Given the description of an element on the screen output the (x, y) to click on. 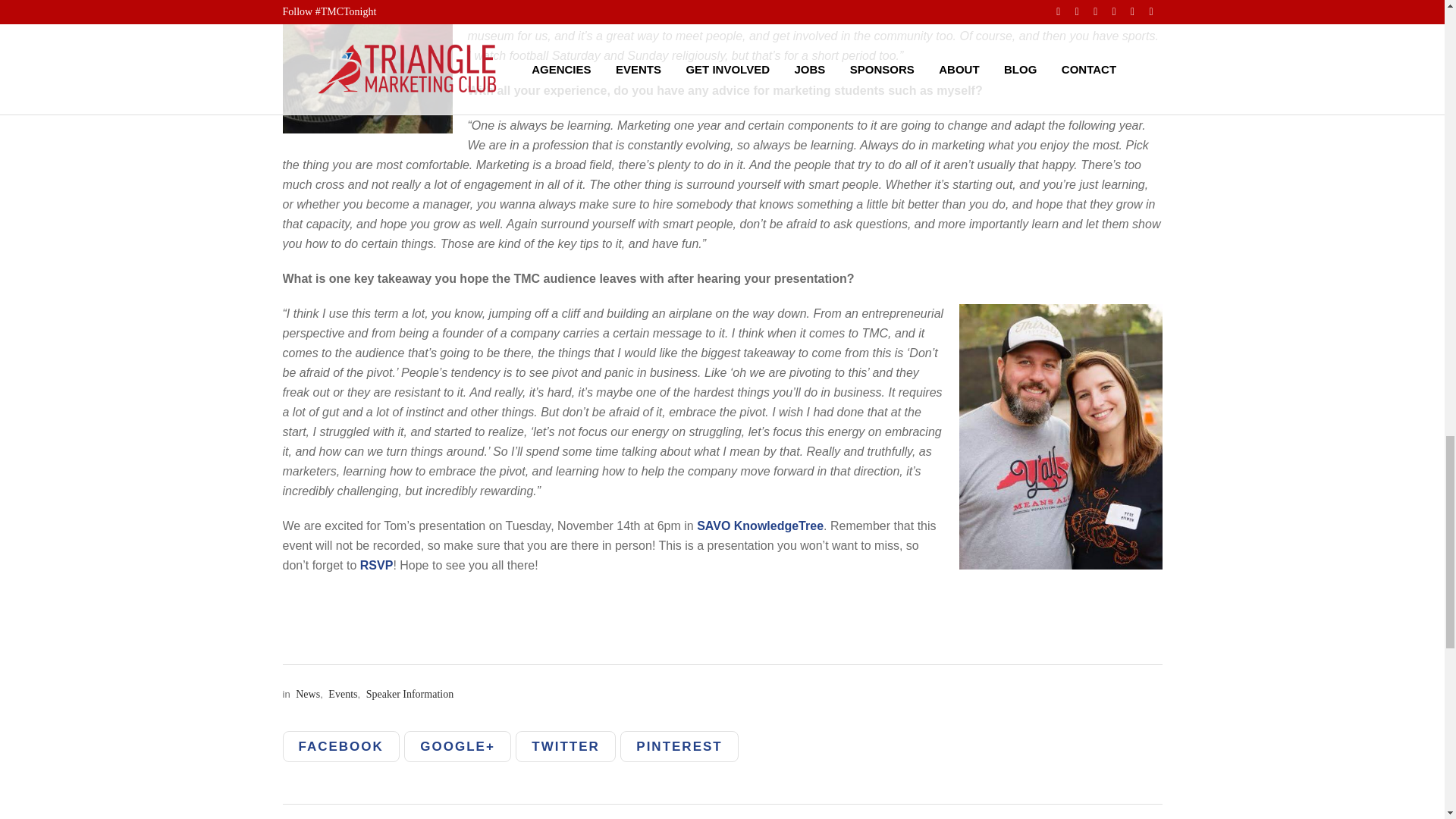
Speaker Information (407, 694)
TWITTER (565, 746)
Events (340, 694)
SAVO KnowledgeTree (760, 525)
PINTEREST (679, 746)
FACEBOOK (340, 746)
News (306, 694)
RSVP (376, 564)
